Given the description of an element on the screen output the (x, y) to click on. 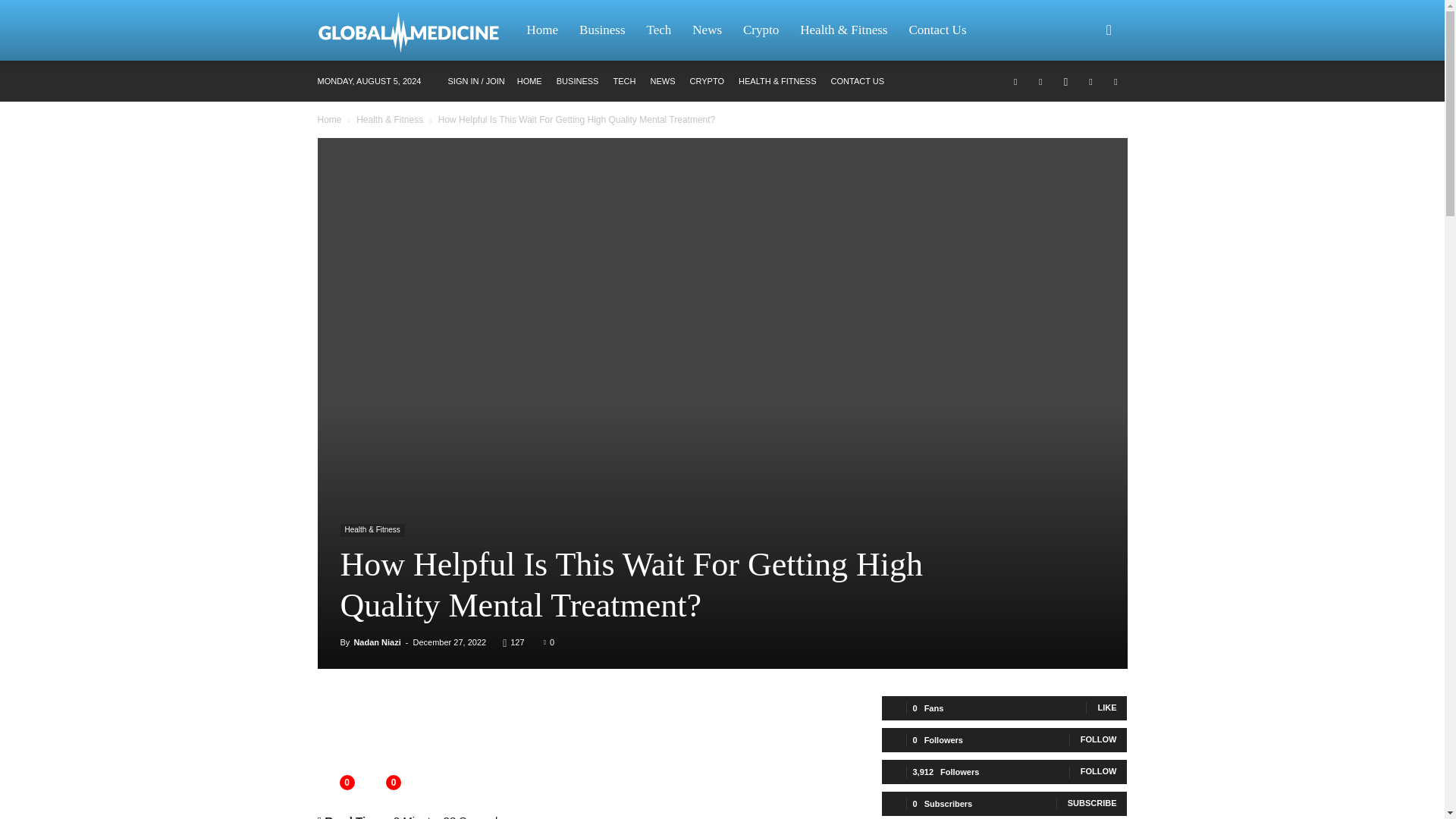
HOME (528, 80)
TECH (623, 80)
Contact Us (937, 30)
NEWS (662, 80)
Crypto (760, 30)
Search (1085, 102)
Business (601, 30)
BUSINESS (577, 80)
DailyTimeZone (416, 30)
